Given the description of an element on the screen output the (x, y) to click on. 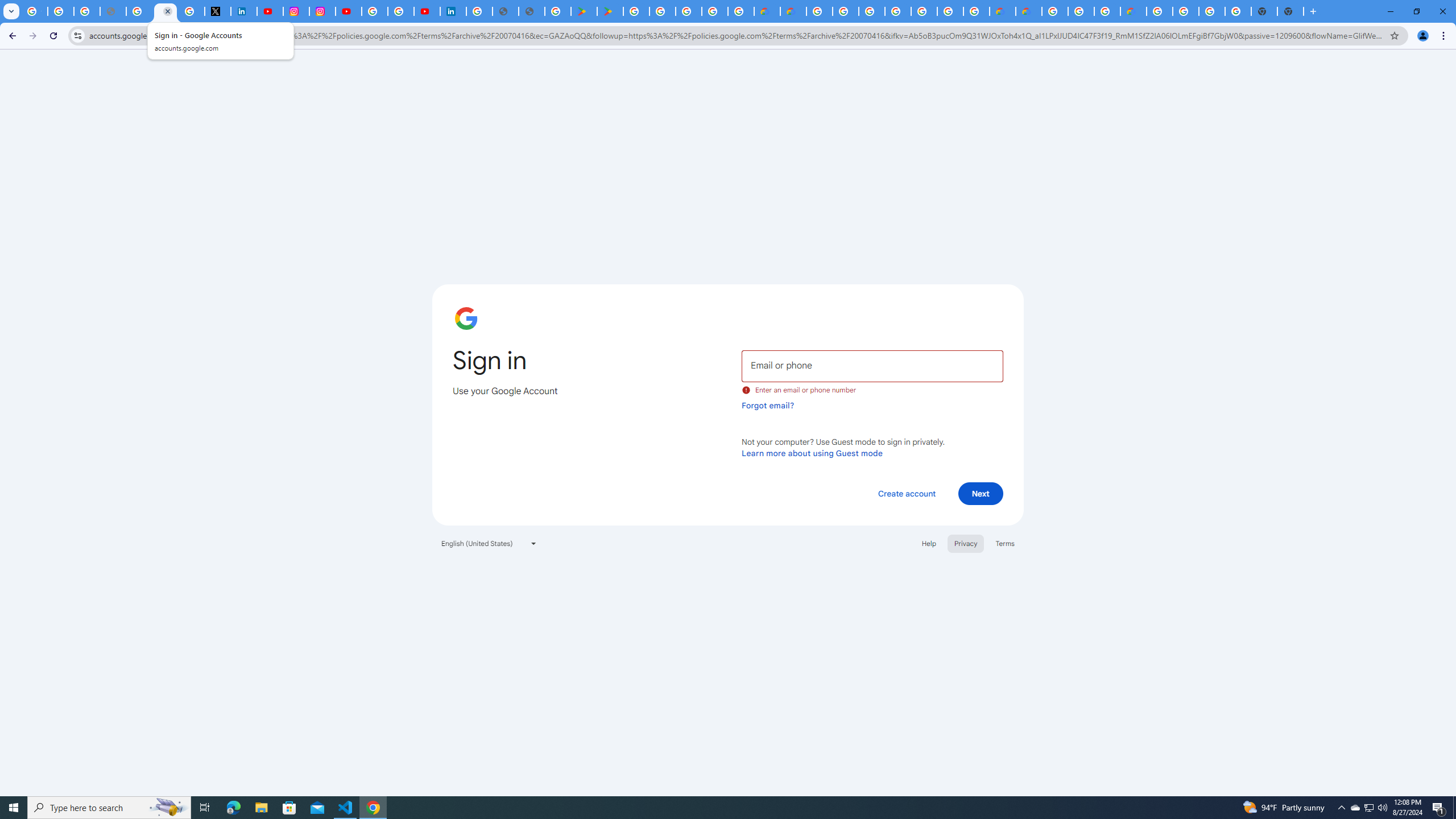
Privacy Help Center - Policies Help (138, 11)
Privacy (965, 542)
Google Cloud Estimate Summary (1028, 11)
YouTube Content Monetization Policies - How YouTube Works (269, 11)
Android Apps on Google Play (584, 11)
Browse Chrome as a guest - Computer - Google Chrome Help (1080, 11)
Create account (905, 493)
Help (928, 542)
